Given the description of an element on the screen output the (x, y) to click on. 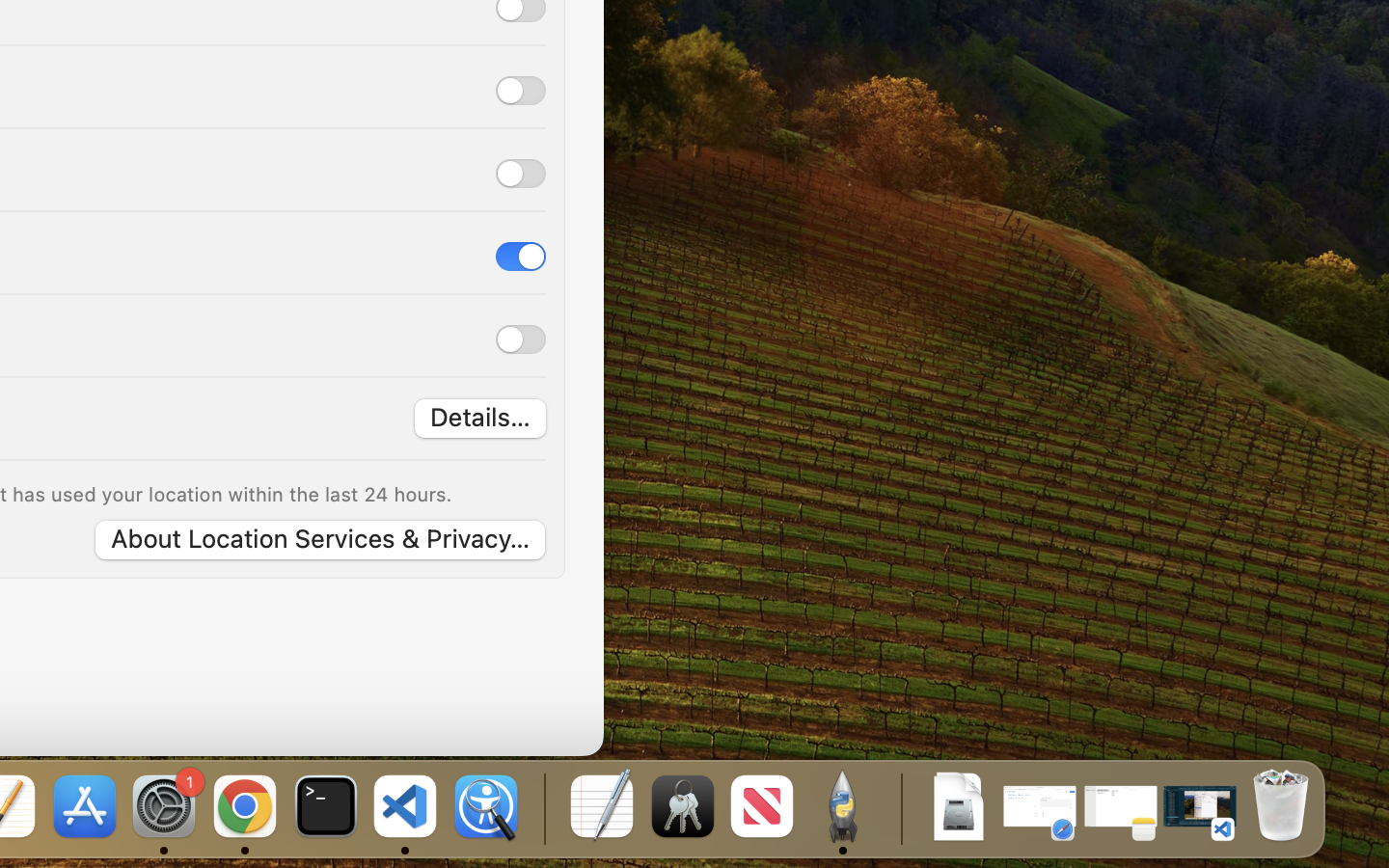
0.4285714328289032 Element type: AXDockItem (541, 807)
